Given the description of an element on the screen output the (x, y) to click on. 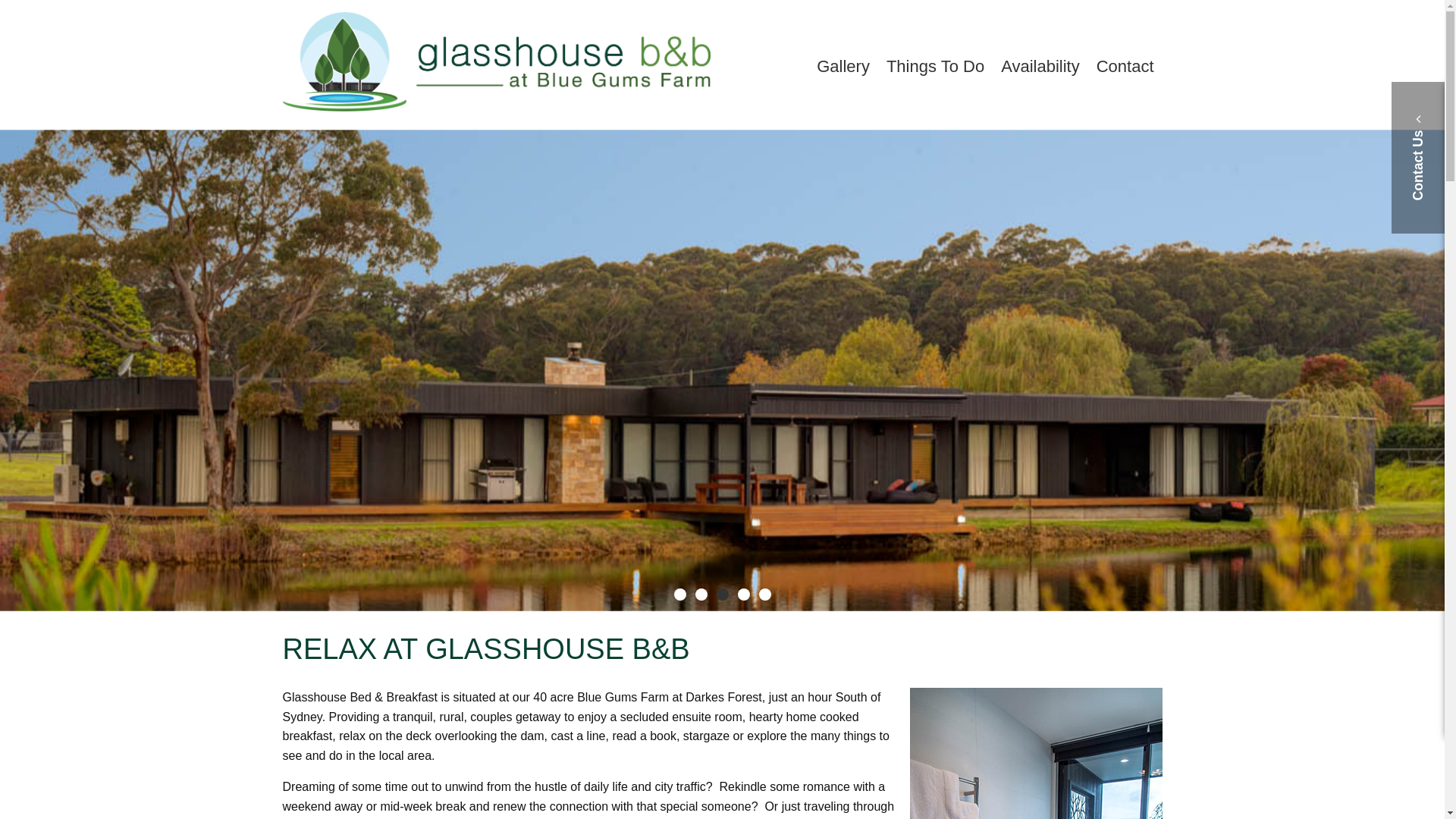
Availability Element type: text (1040, 66)
Contact Element type: text (1125, 66)
Gallery Element type: text (843, 66)
Things To Do Element type: text (935, 66)
